Given the description of an element on the screen output the (x, y) to click on. 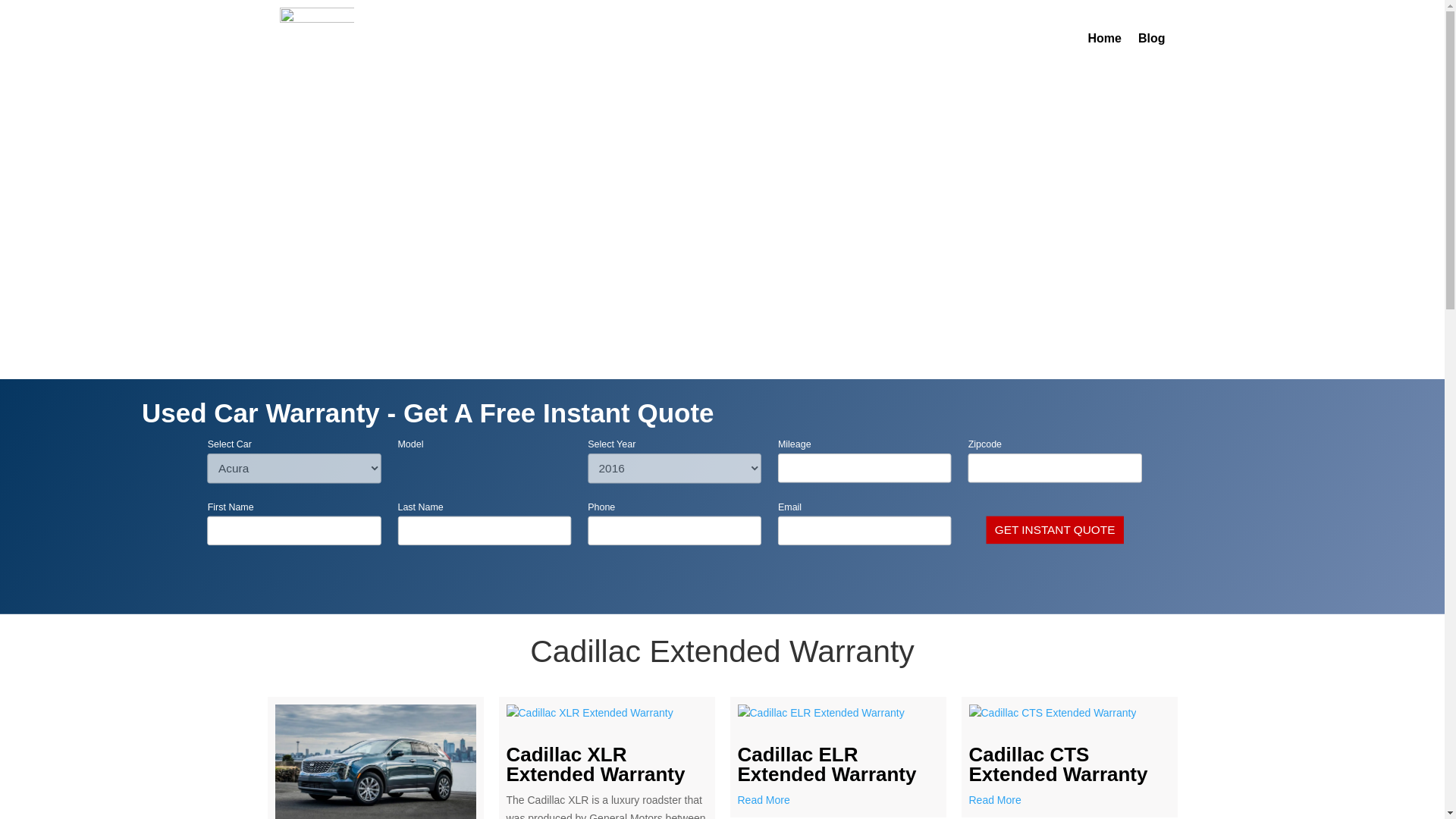
Get Instant Quote (1057, 529)
Read More (1069, 800)
Get Instant Quote (1057, 529)
Cadillac ELR Extended Warranty (825, 763)
Cadillac XLR Extended Warranty (595, 763)
Read More (836, 800)
Blog (1152, 38)
Home (1104, 38)
Cadillac CTS Extended Warranty (1058, 763)
